Given the description of an element on the screen output the (x, y) to click on. 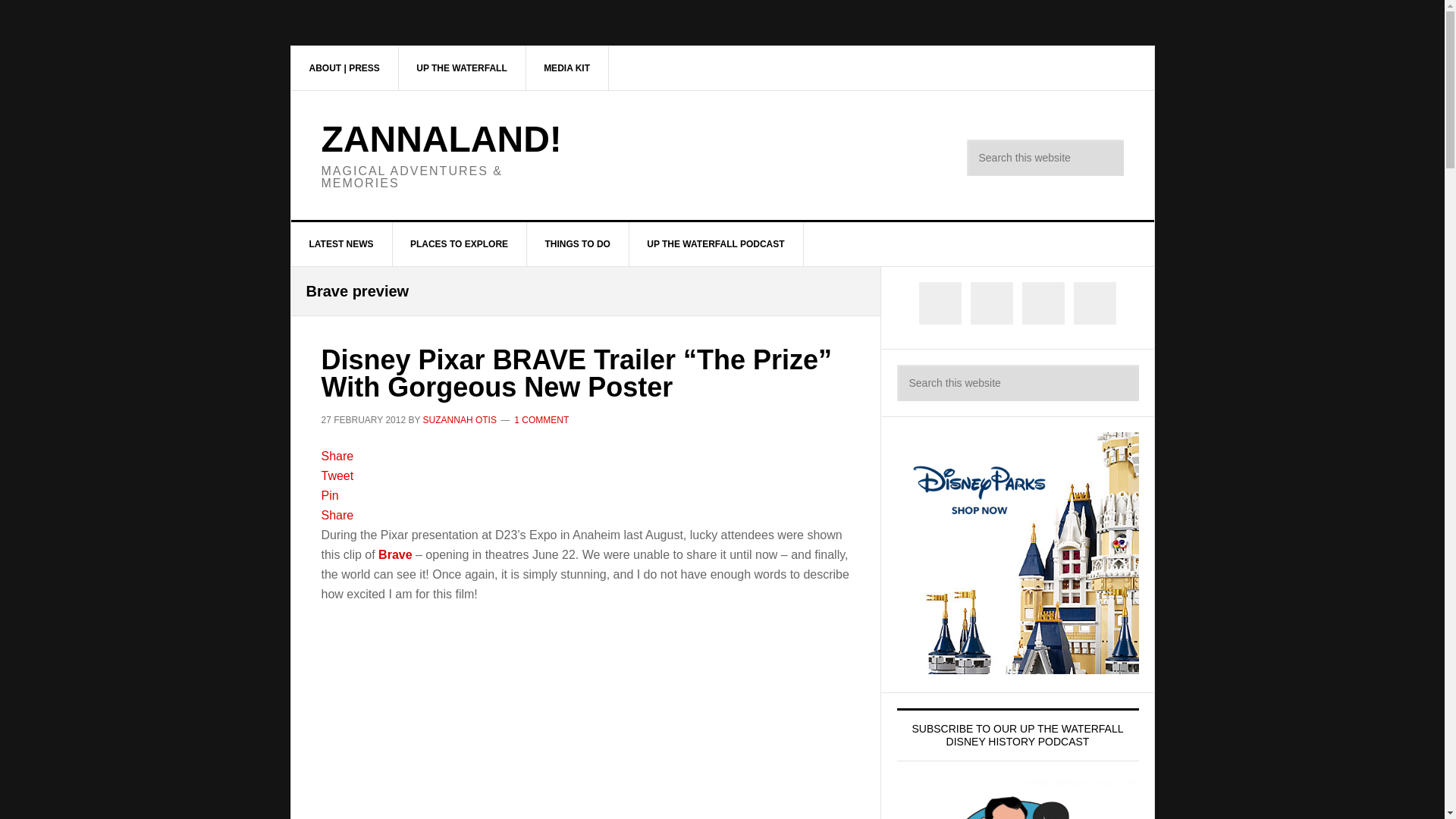
PLACES TO EXPLORE (459, 243)
THINGS TO DO (576, 243)
MEDIA KIT (566, 67)
podcast (715, 243)
Podcasts (461, 67)
UP THE WATERFALL PODCAST (715, 243)
LATEST NEWS (342, 243)
ZANNALAND! (441, 138)
UP THE WATERFALL (461, 67)
